Given the description of an element on the screen output the (x, y) to click on. 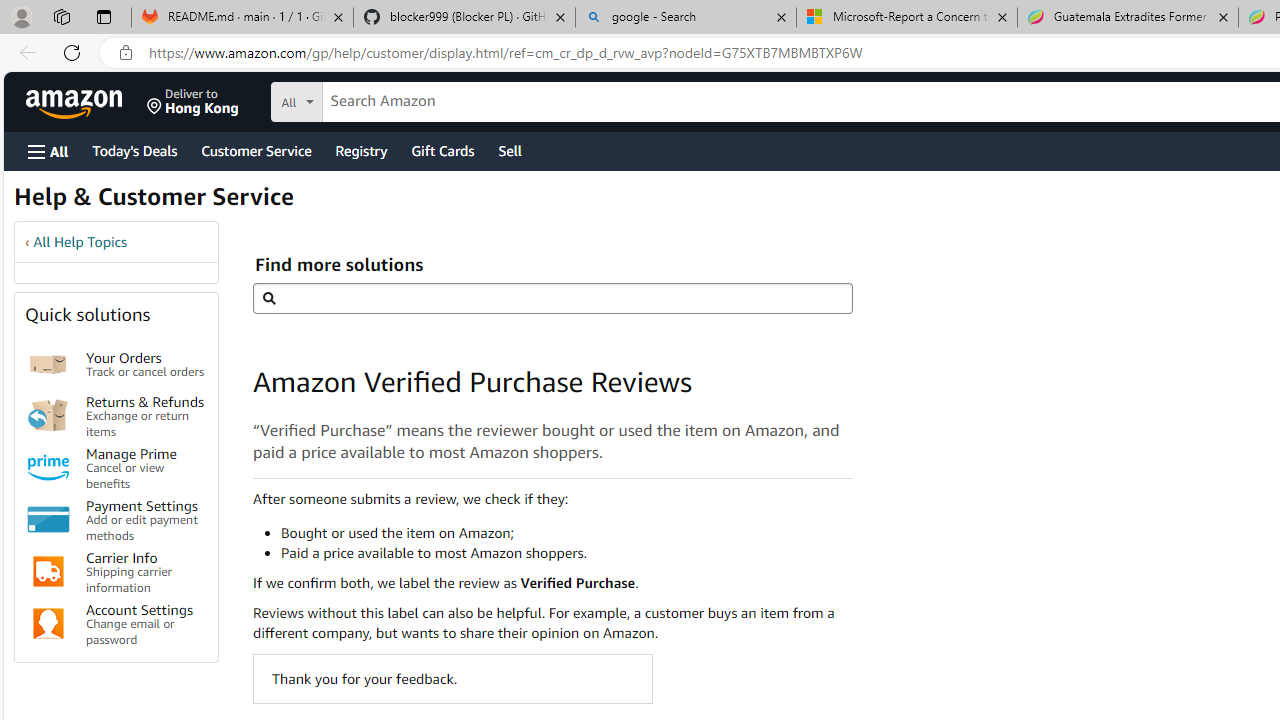
Open Menu (48, 151)
Skip to main content (86, 100)
Account Settings Change email or password (145, 623)
Your Orders (48, 364)
Returns & Refunds Exchange or return items (145, 414)
All Help Topics (80, 242)
Carrier Info (48, 571)
Payment Settings (48, 520)
Amazon (76, 101)
Paid a price available to most Amazon shoppers. (566, 552)
Payment Settings Add or edit payment methods (145, 519)
Returns & Refunds (48, 415)
Account Settings (48, 623)
